Given the description of an element on the screen output the (x, y) to click on. 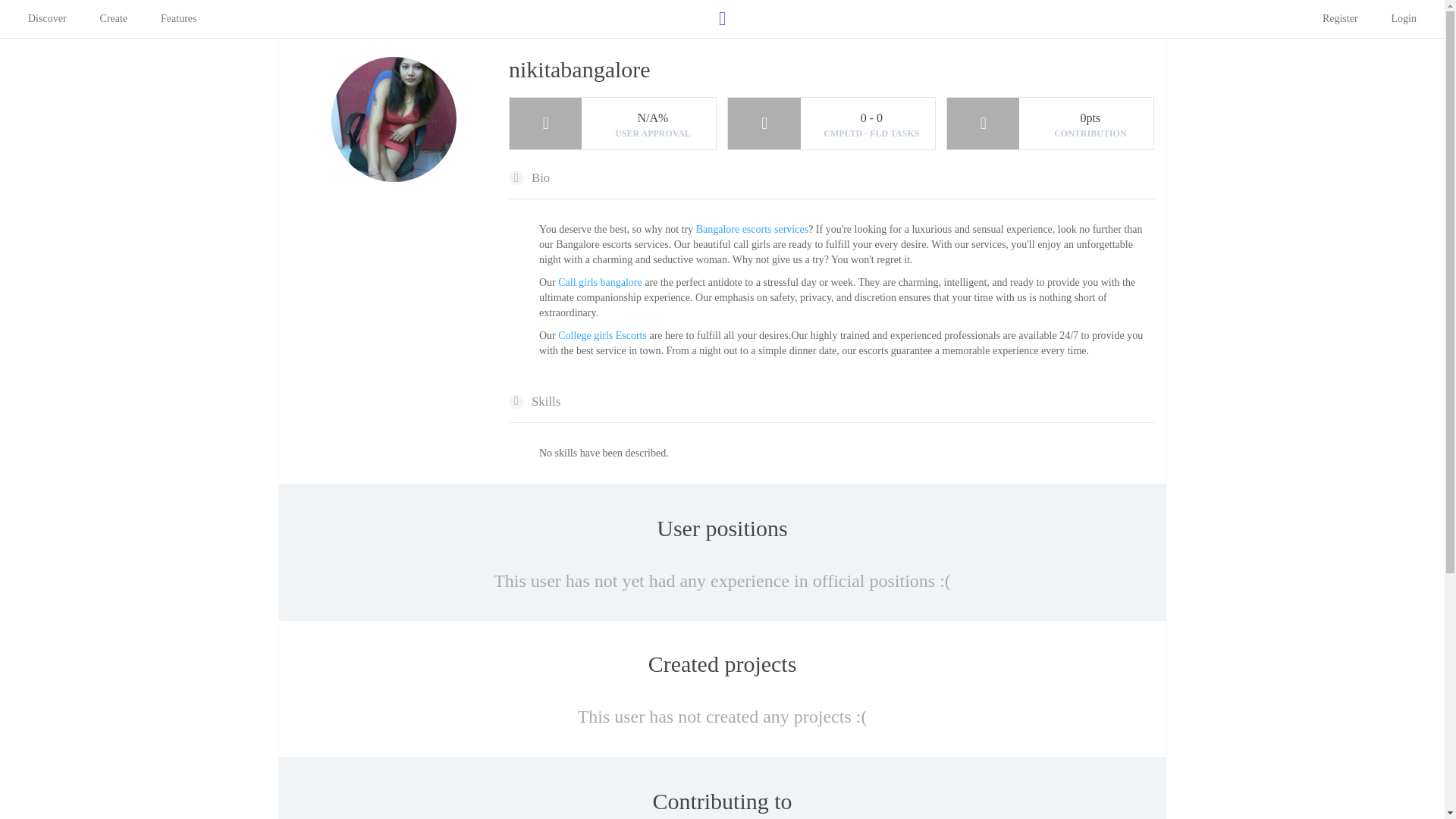
Register (1340, 18)
College girls Escorts (603, 335)
Features (178, 18)
Call girls bangalore (601, 282)
Create (113, 18)
Login (1404, 18)
Discover (47, 18)
Bangalore escorts services (752, 229)
